Given the description of an element on the screen output the (x, y) to click on. 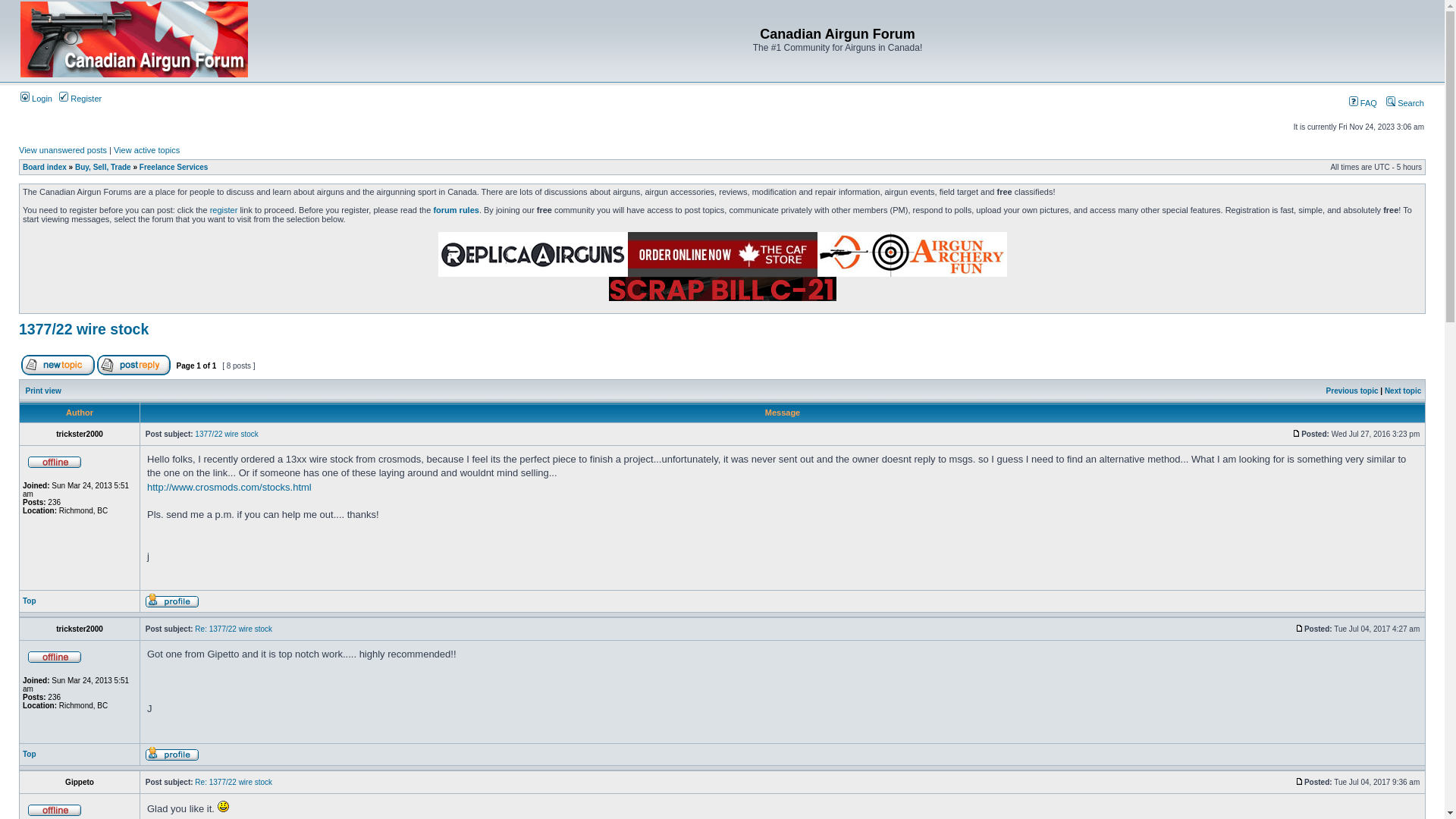
1377/22 wire stock Element type: text (225, 433)
Login Element type: text (36, 98)
Search Element type: text (1405, 102)
Profile Element type: hover (171, 600)
Reply to topic Element type: hover (133, 364)
Offline Element type: hover (54, 460)
1377/22 wire stock Element type: text (83, 328)
Post new topic Element type: hover (57, 364)
Post Element type: hover (1299, 627)
Post Element type: hover (1299, 781)
View active topics Element type: text (146, 149)
Post Element type: hover (1296, 432)
register Element type: text (224, 209)
Re: 1377/22 wire stock Element type: text (233, 628)
Re: 1377/22 wire stock Element type: text (233, 782)
forum rules Element type: text (456, 209)
Top Element type: text (29, 753)
Print view Element type: text (43, 390)
Register Element type: text (80, 98)
Offline Element type: hover (54, 808)
Top Element type: text (29, 600)
View unanswered posts Element type: text (62, 149)
http://www.crosmods.com/stocks.html Element type: text (229, 486)
Profile Element type: hover (171, 753)
FAQ Element type: text (1363, 102)
Smile Element type: hover (222, 806)
Buy, Sell, Trade Element type: text (103, 167)
Board index Element type: text (44, 167)
Freelance Services Element type: text (173, 167)
Next topic Element type: text (1402, 390)
Previous topic Element type: text (1352, 390)
Offline Element type: hover (54, 655)
